Given the description of an element on the screen output the (x, y) to click on. 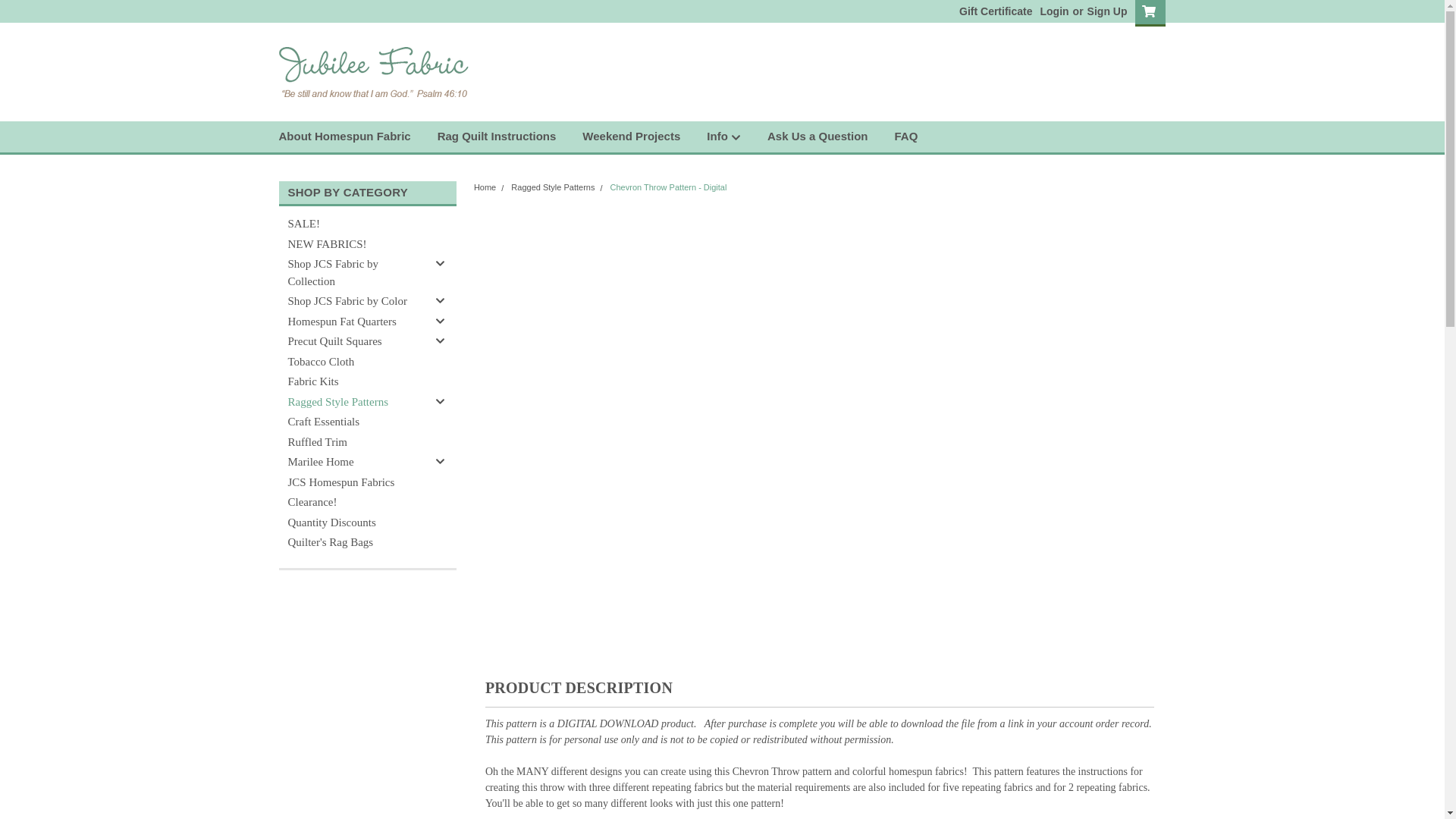
Sign Up (1104, 11)
Login (1054, 11)
Gift Certificate (992, 11)
Jubilee Fabric (373, 71)
